Given the description of an element on the screen output the (x, y) to click on. 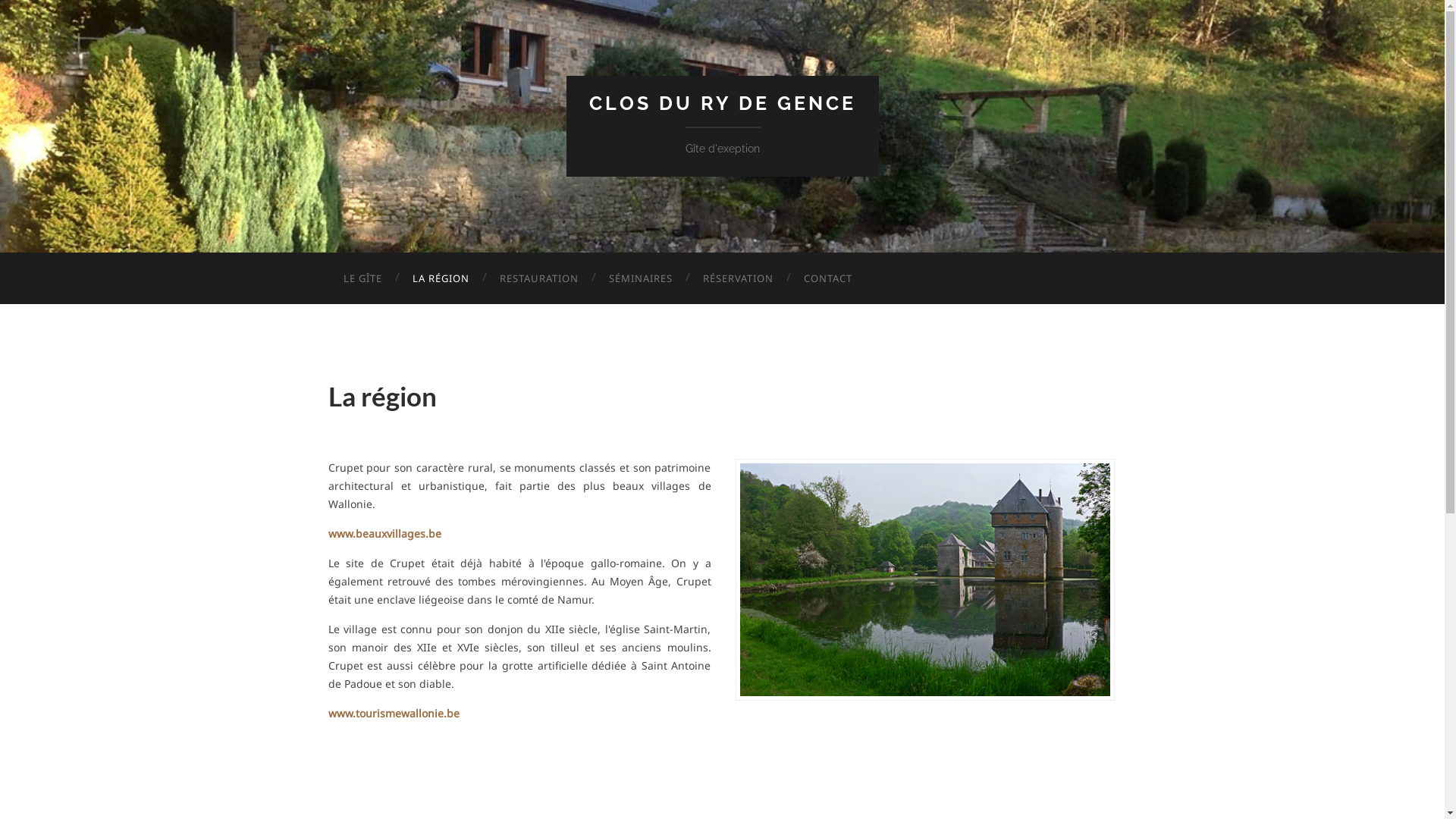
www.tourismewallonie.be Element type: text (392, 713)
CLOS DU RY DE GENCE Element type: text (721, 103)
RESTAURATION Element type: text (538, 278)
www.beauxvillages.be Element type: text (383, 533)
CONTACT Element type: text (827, 278)
